Given the description of an element on the screen output the (x, y) to click on. 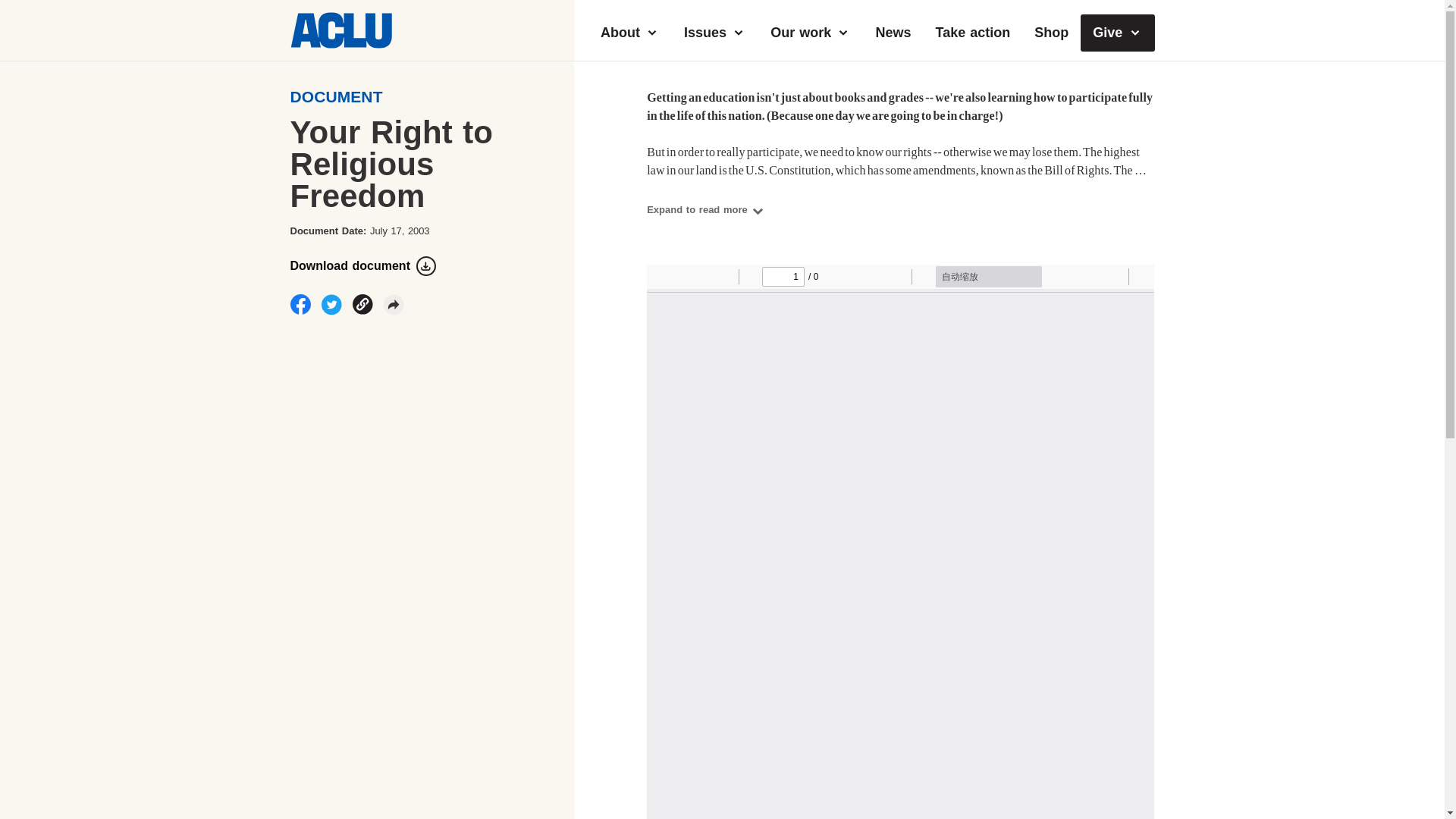
Copy (362, 304)
ACLU.org (340, 43)
Take action (973, 32)
Our work (810, 32)
News (893, 32)
Tweet (331, 304)
Share on Facebook (299, 304)
About (629, 32)
Issues (714, 32)
